Given the description of an element on the screen output the (x, y) to click on. 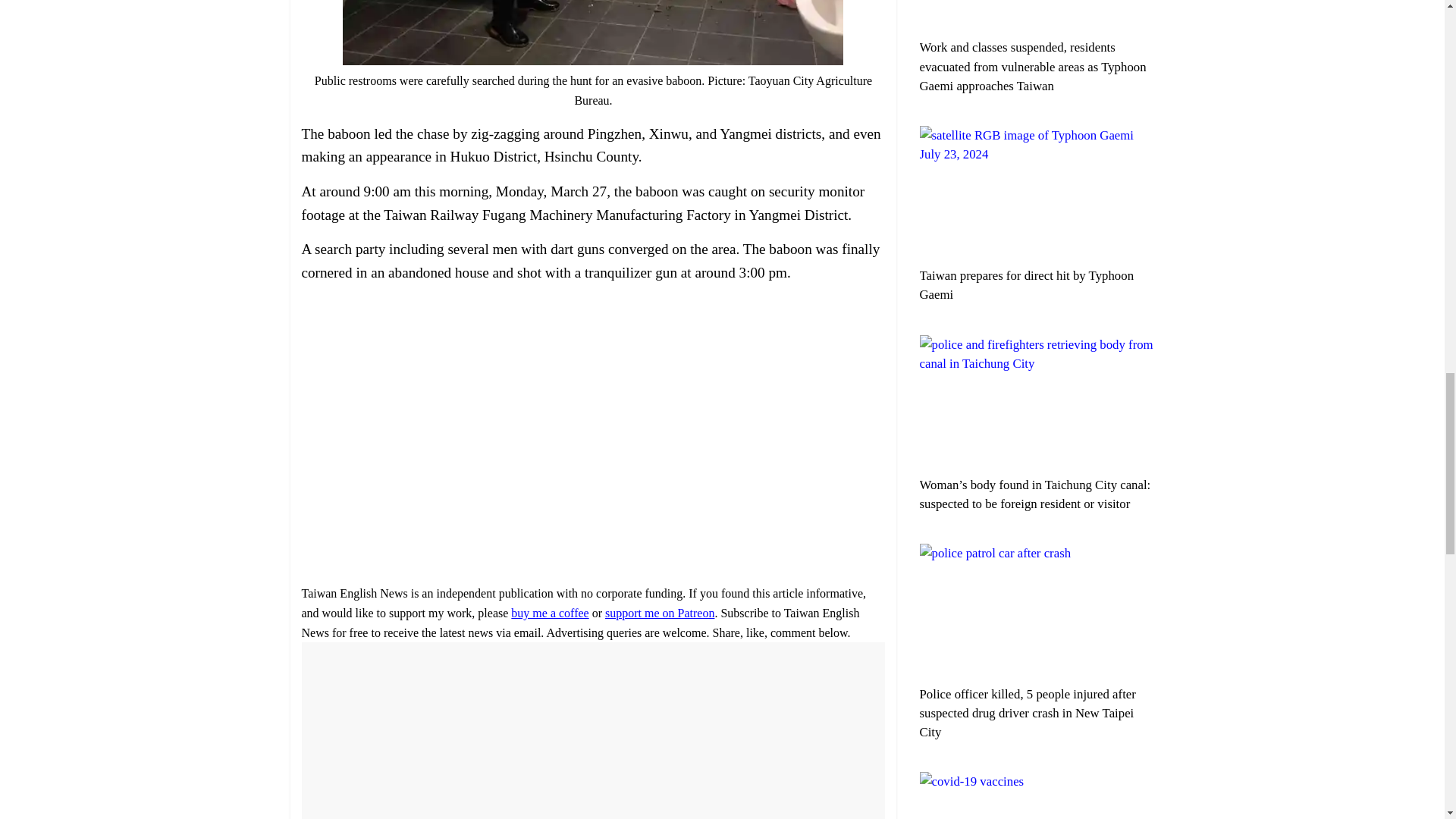
buy me a coffee (549, 612)
support me on Patreon (659, 612)
